Given the description of an element on the screen output the (x, y) to click on. 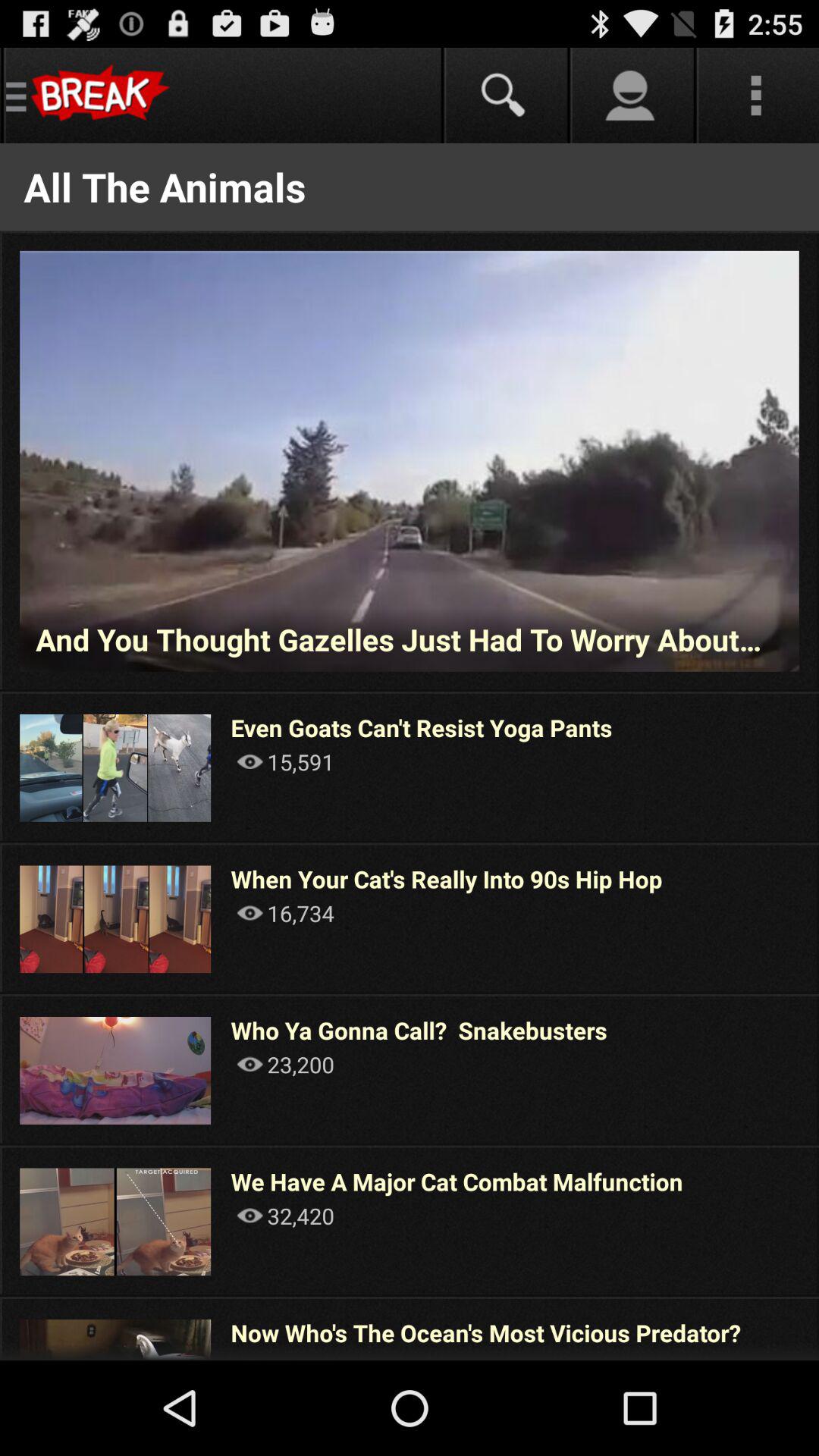
flip until the who ya gonna icon (418, 1030)
